Given the description of an element on the screen output the (x, y) to click on. 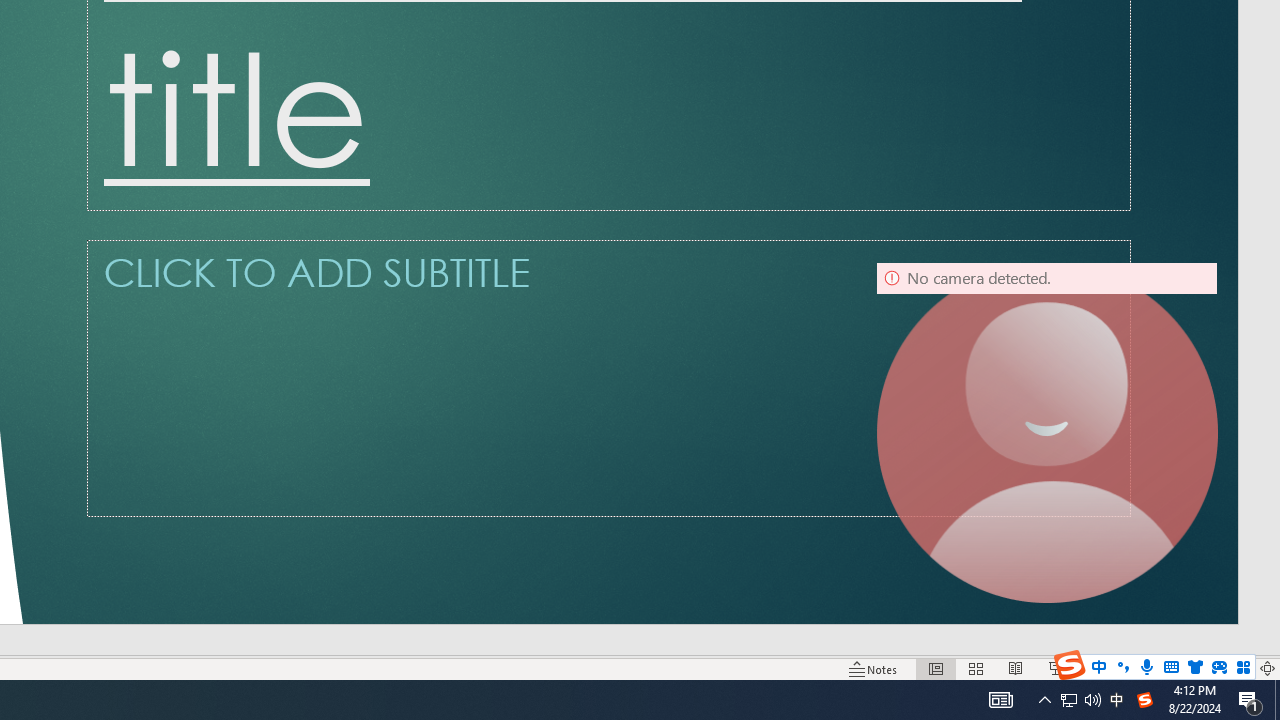
Zoom 161% (1234, 668)
